Given the description of an element on the screen output the (x, y) to click on. 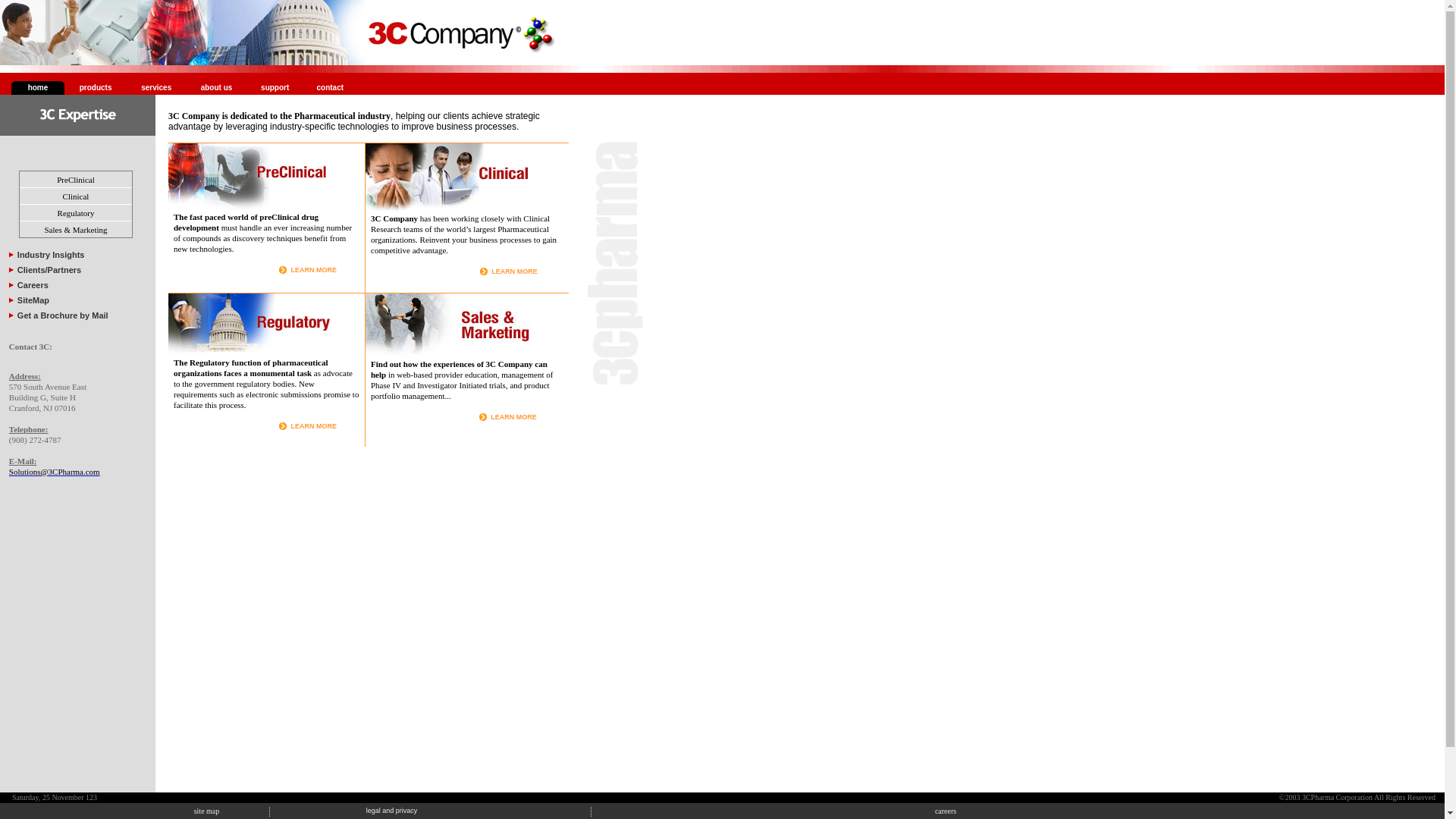
LEARN MORE Element type: text (313, 269)
Sales & Marketing Element type: text (75, 229)
LEARN MORE Element type: text (514, 271)
Clients/Partners Element type: text (49, 269)
Solutions@3CPharma.com Element type: text (54, 471)
services Element type: text (155, 87)
Industry Insights Element type: text (50, 254)
Clinical Element type: text (75, 195)
home Element type: text (38, 87)
careers Element type: text (945, 811)
legal and privacy Element type: text (391, 810)
Regulatory Element type: text (75, 212)
site map Element type: text (206, 811)
SiteMap Element type: text (33, 299)
LEARN MORE Element type: text (313, 425)
Get a Brochure by Mail Element type: text (62, 315)
Careers Element type: text (32, 284)
contact Element type: text (330, 87)
PreClinical Element type: text (75, 179)
LEARN MORE Element type: text (513, 416)
support Element type: text (274, 87)
about us Element type: text (216, 87)
products Element type: text (95, 87)
